Given the description of an element on the screen output the (x, y) to click on. 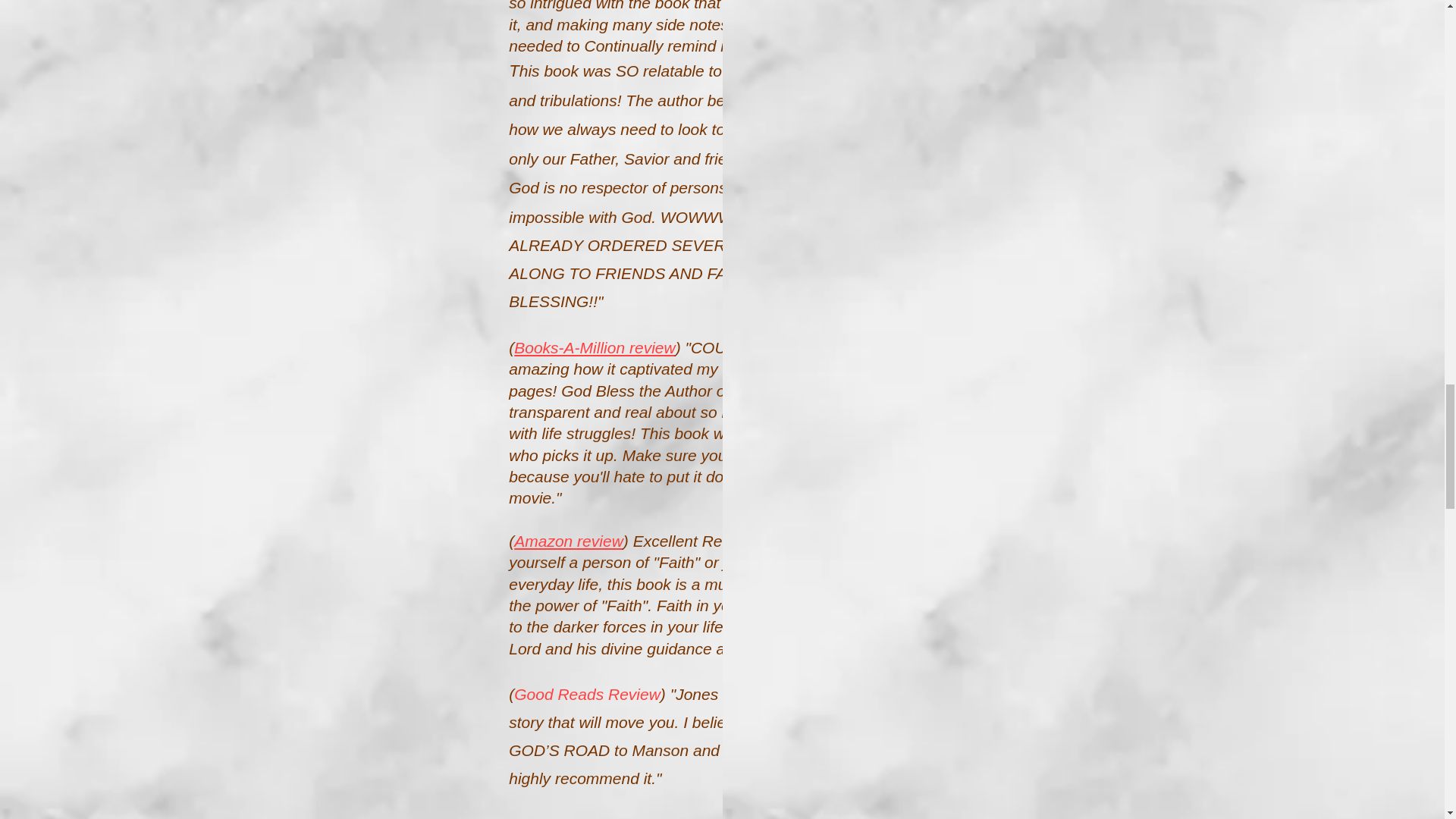
Amazon review (568, 540)
Books-A-Million review (594, 347)
